Given the description of an element on the screen output the (x, y) to click on. 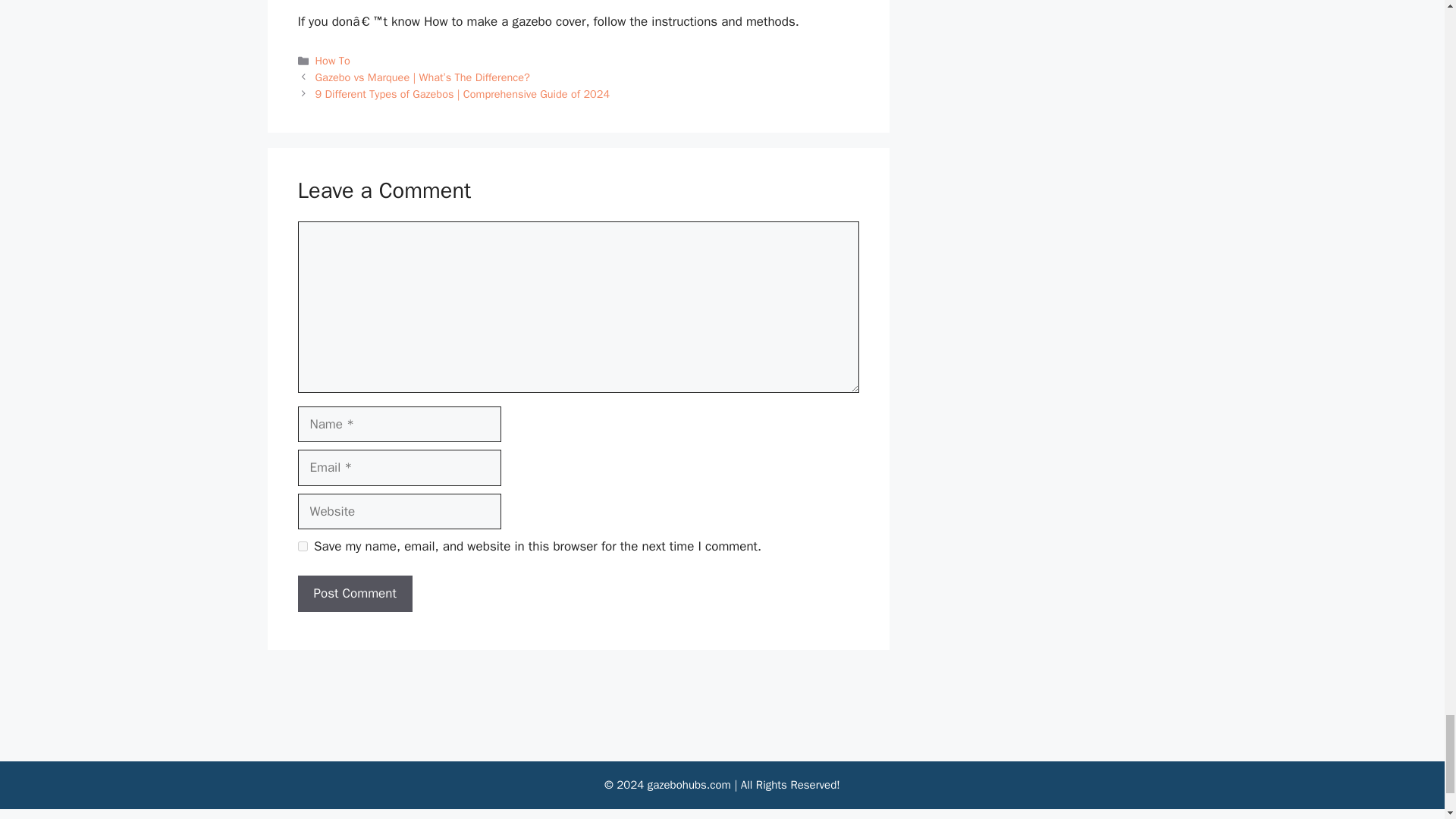
How To (332, 60)
Post Comment (354, 593)
yes (302, 546)
